Given the description of an element on the screen output the (x, y) to click on. 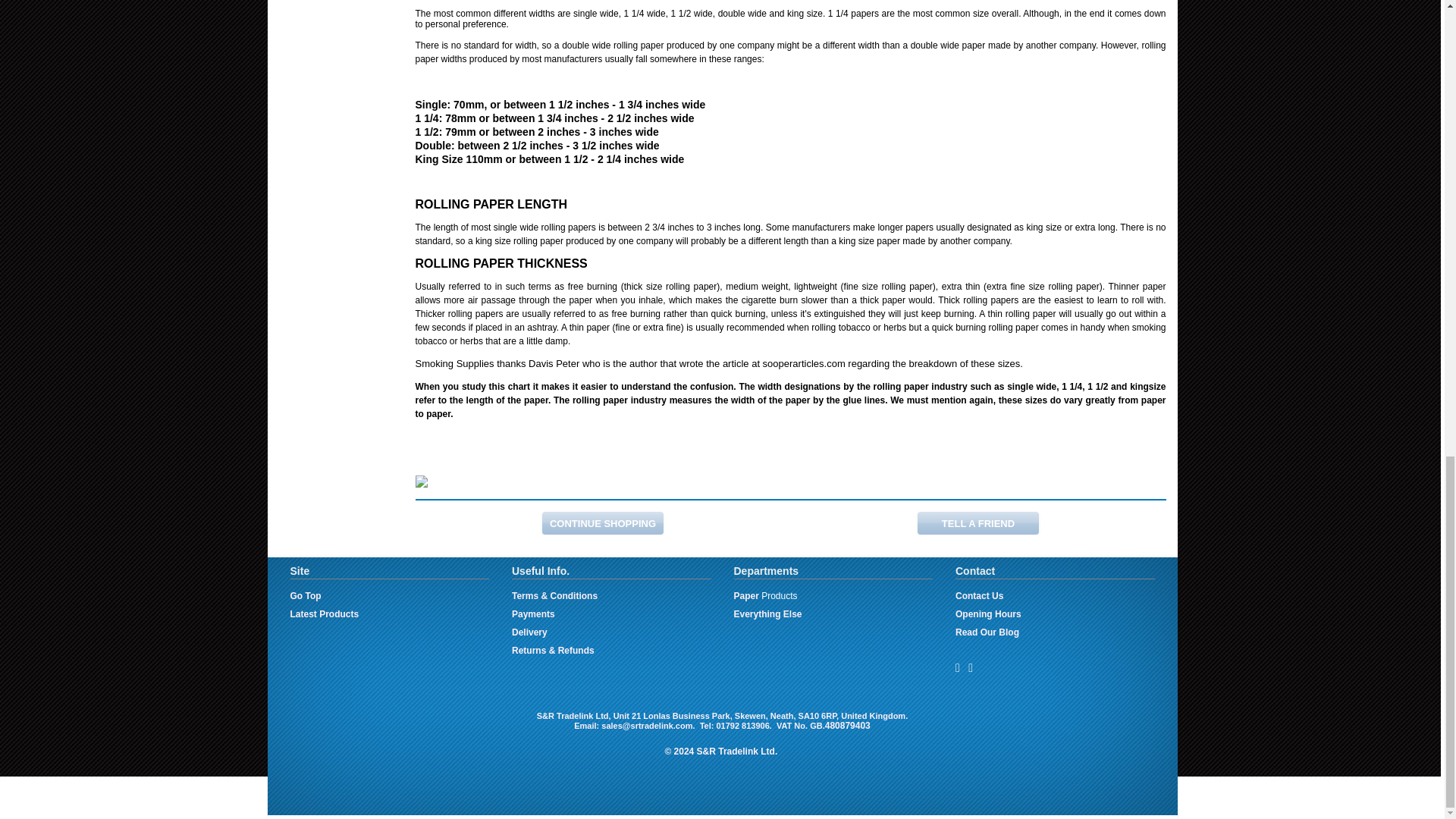
Payments (533, 614)
Read Our Blog (987, 632)
Delivery (529, 632)
Opening Hours (988, 614)
Latest Products (323, 614)
Find Us on Twitter (970, 667)
CONTINUE SHOPPING (602, 522)
Go Top (304, 595)
Everything Else (767, 614)
Paper (745, 595)
Find Us on Facebook (957, 667)
TELL A FRIEND (978, 522)
Contact Us (979, 595)
